Given the description of an element on the screen output the (x, y) to click on. 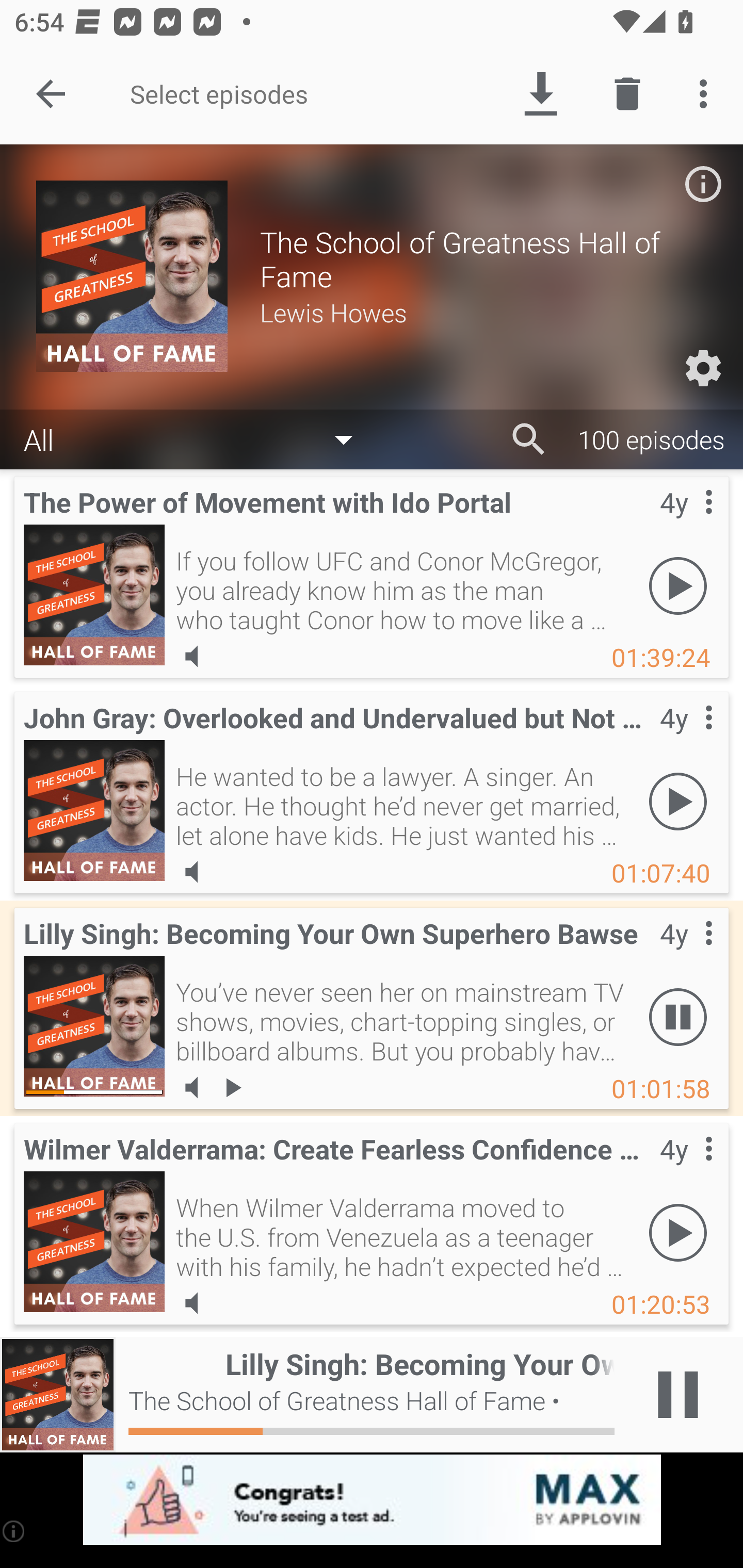
Done (50, 93)
Download (540, 93)
Delete episode (626, 93)
More options (706, 93)
Podcast description (703, 184)
Lewis Howes (483, 311)
Custom Settings (703, 368)
Search (528, 439)
All (197, 438)
Contextual menu (685, 522)
The Power of Movement with Ido Portal (93, 594)
Play (677, 585)
Contextual menu (685, 738)
Play (677, 801)
Contextual menu (685, 954)
Lilly Singh: Becoming Your Own Superhero Bawse (93, 1026)
Pause (677, 1016)
Contextual menu (685, 1169)
Play (677, 1232)
Play / Pause (677, 1394)
app-monetization (371, 1500)
(i) (14, 1531)
